Given the description of an element on the screen output the (x, y) to click on. 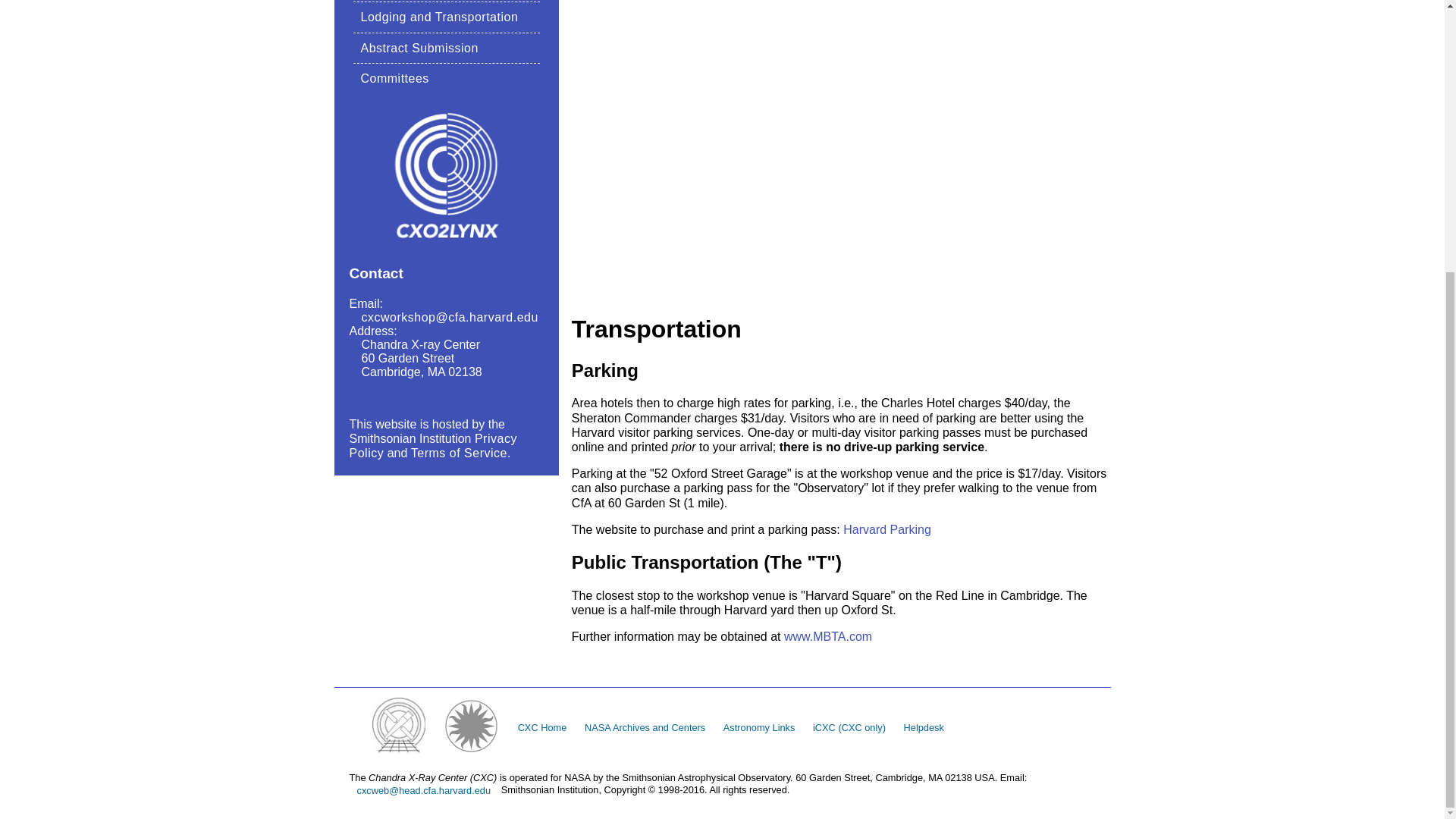
NASA Archives and Centers (644, 727)
Lodging and Transportation (439, 16)
Privacy Policy (432, 445)
CXC Home (543, 727)
Harvard Parking (887, 529)
Committees (395, 78)
Terms of Service (458, 452)
Abstract Submission (420, 47)
Helpdesk (924, 727)
Astronomy Links (759, 727)
www.MBTA.com (828, 635)
